Given the description of an element on the screen output the (x, y) to click on. 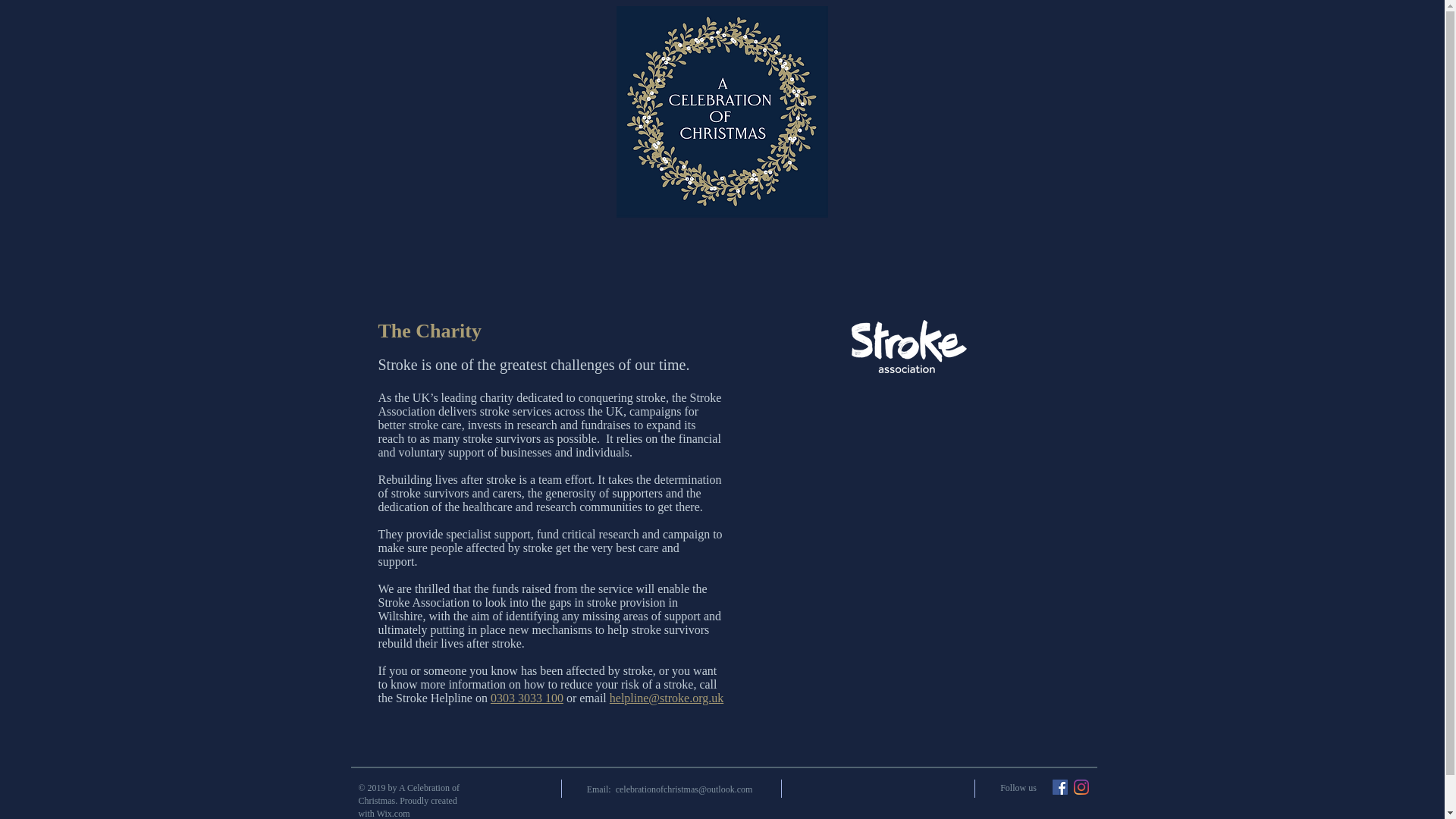
Wix.com (393, 813)
0303 3033 100 (526, 697)
